Given the description of an element on the screen output the (x, y) to click on. 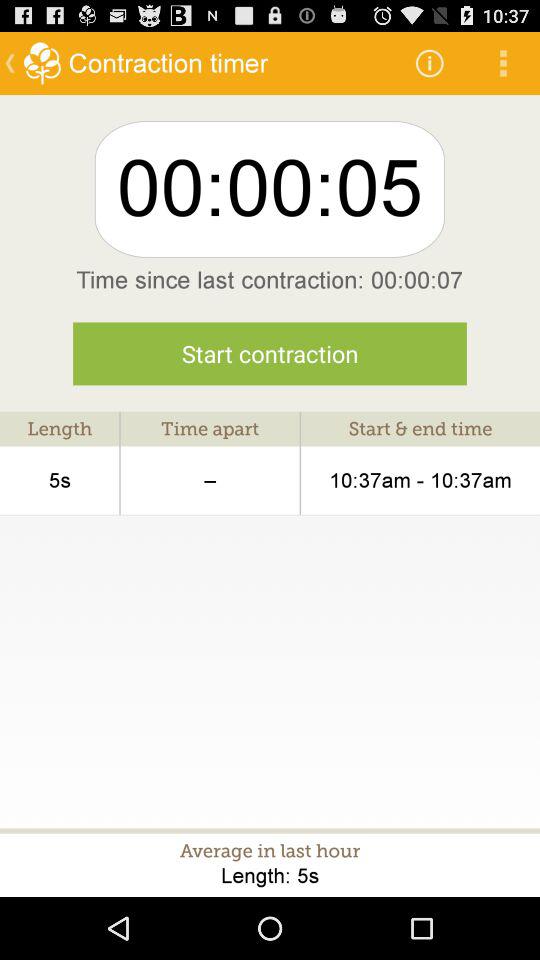
launch 10 37am 10 item (420, 480)
